Given the description of an element on the screen output the (x, y) to click on. 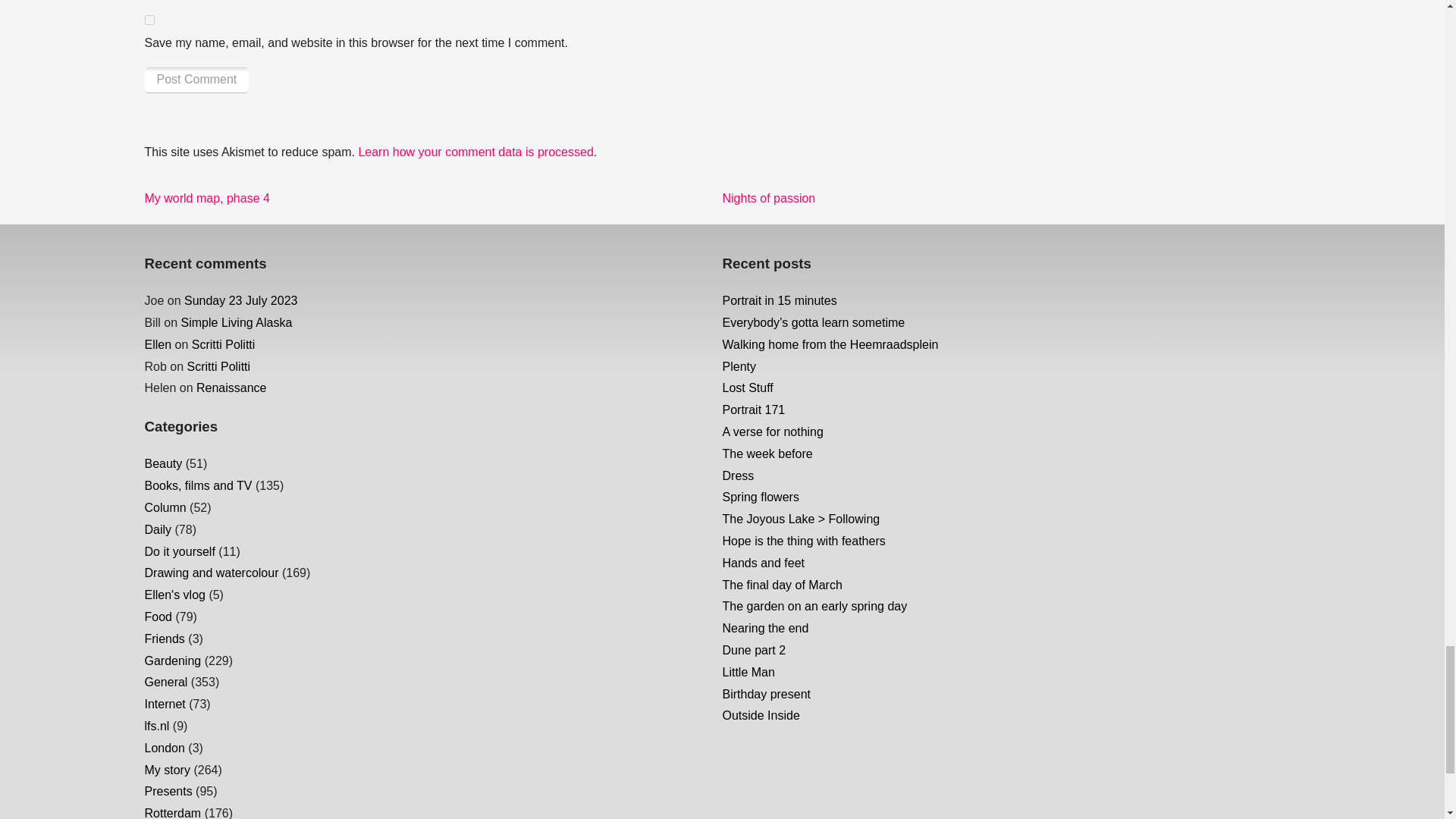
Friends (164, 638)
Rotterdam (172, 812)
Beauty (206, 197)
Presents (163, 463)
Internet (168, 790)
Books, films and TV (164, 703)
Ellen's vlog (197, 485)
Drawing and watercolour (174, 594)
Gardening (211, 572)
Sunday 23 July 2023 (172, 660)
yes (240, 300)
Do it yourself (149, 20)
My story (179, 551)
lfs.nl (166, 769)
